Given the description of an element on the screen output the (x, y) to click on. 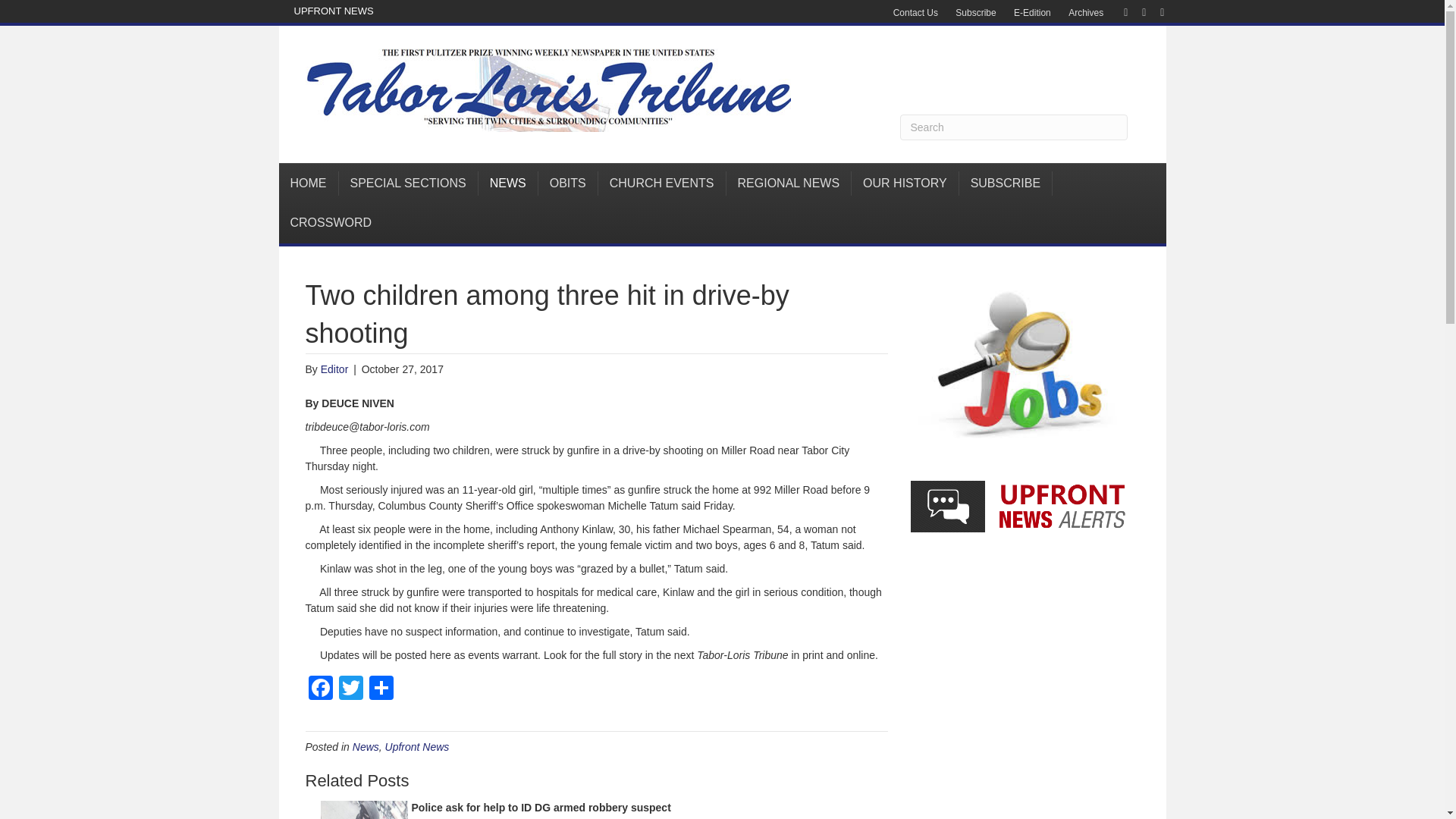
Type and press Enter to search. (1012, 127)
OBITS (568, 183)
Facebook (1117, 11)
Police ask for help to ID DG armed robbery suspect (539, 807)
Facebook (319, 689)
NEWS (508, 183)
Twitter (1135, 11)
SPECIAL SECTIONS (407, 183)
OUR HISTORY (905, 183)
REGIONAL NEWS (788, 183)
Subscribe (975, 13)
E-Edition (1032, 13)
Archives (1085, 13)
Twitter (349, 689)
Contact Us (914, 13)
